Given the description of an element on the screen output the (x, y) to click on. 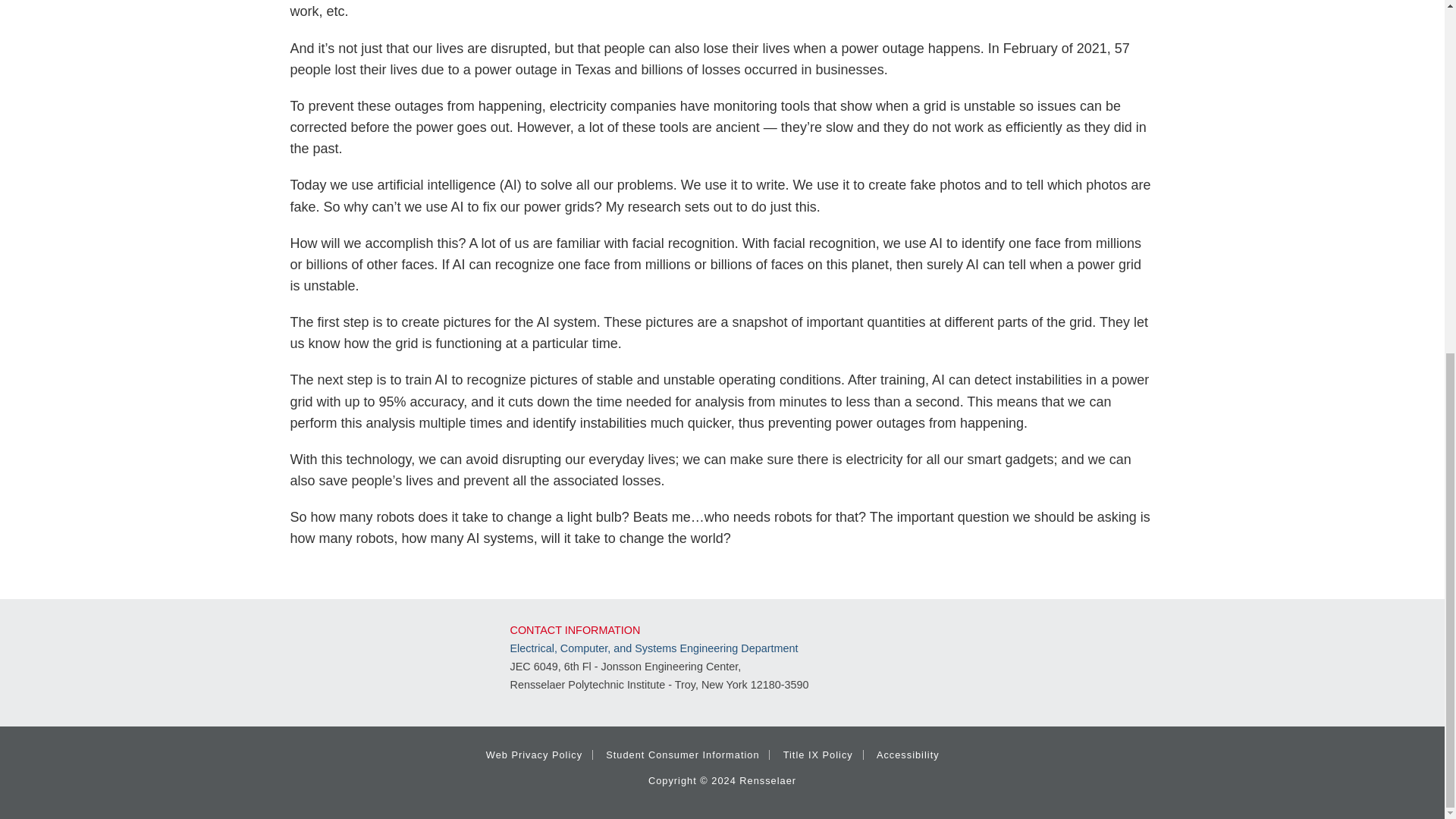
Student Consumer Information (681, 754)
Electrical, Computer, and Systems Engineering Department (653, 648)
Title IX Policy (818, 754)
Accessibility (907, 754)
Web Privacy Policy (534, 754)
